Given the description of an element on the screen output the (x, y) to click on. 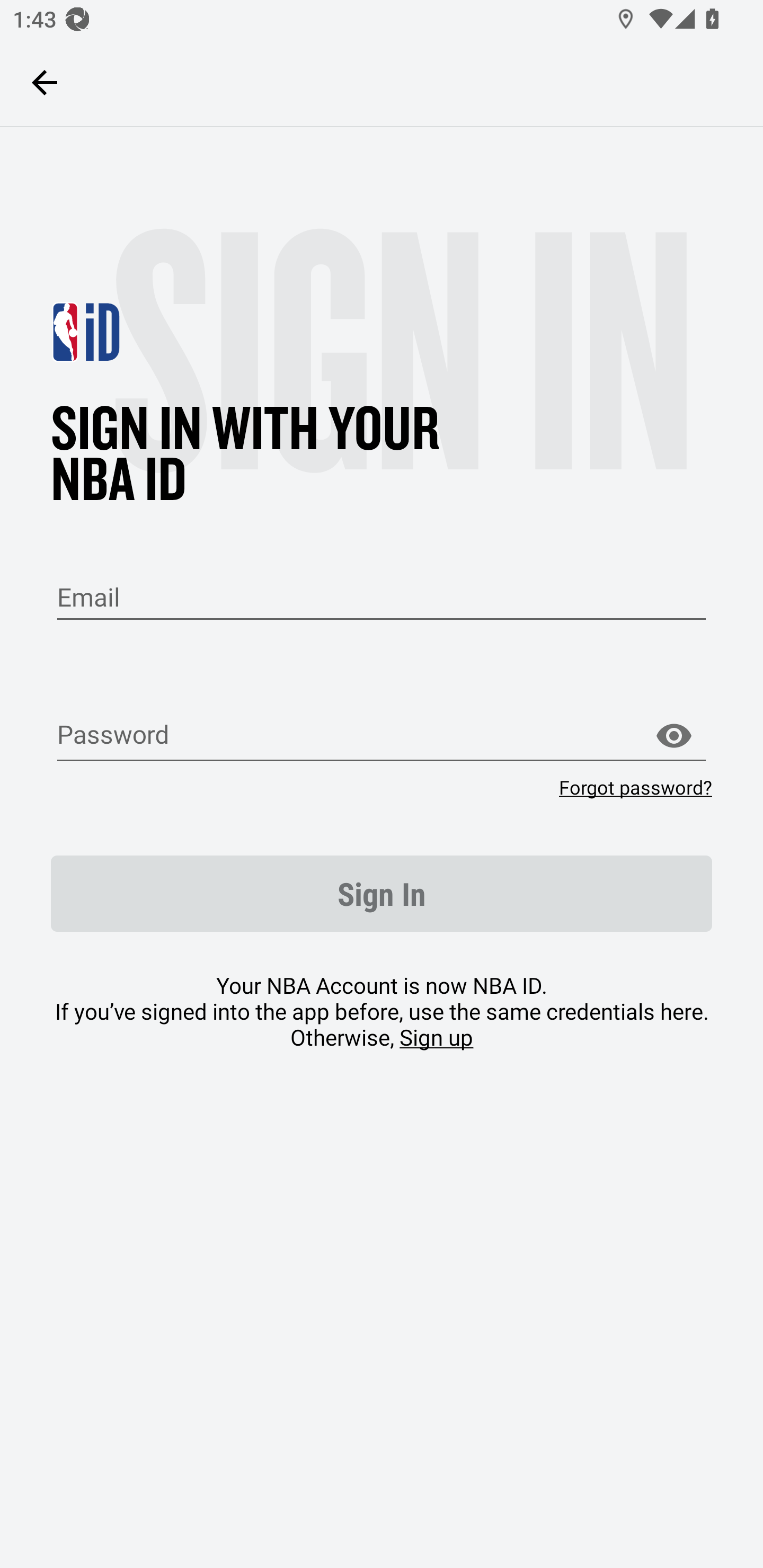
Email (381, 597)
Password (381, 735)
Show password (673, 735)
Forgot password? (635, 786)
Sign In (381, 893)
